Given the description of an element on the screen output the (x, y) to click on. 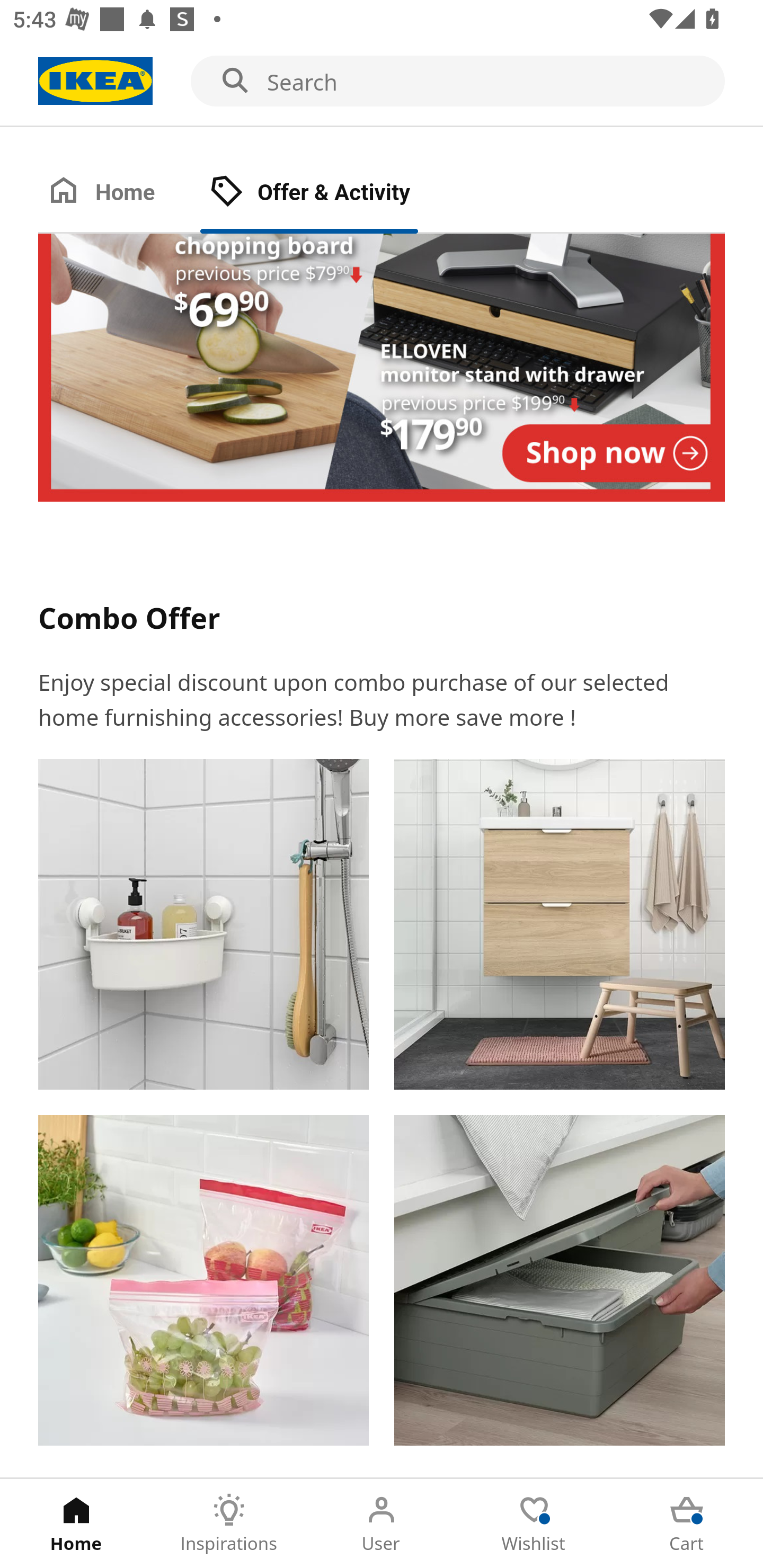
Search (381, 81)
Home
Tab 1 of 2 (118, 192)
Offer & Activity
Tab 2 of 2 (327, 192)
Home
Tab 1 of 5 (76, 1522)
Inspirations
Tab 2 of 5 (228, 1522)
User
Tab 3 of 5 (381, 1522)
Wishlist
Tab 4 of 5 (533, 1522)
Cart
Tab 5 of 5 (686, 1522)
